Given the description of an element on the screen output the (x, y) to click on. 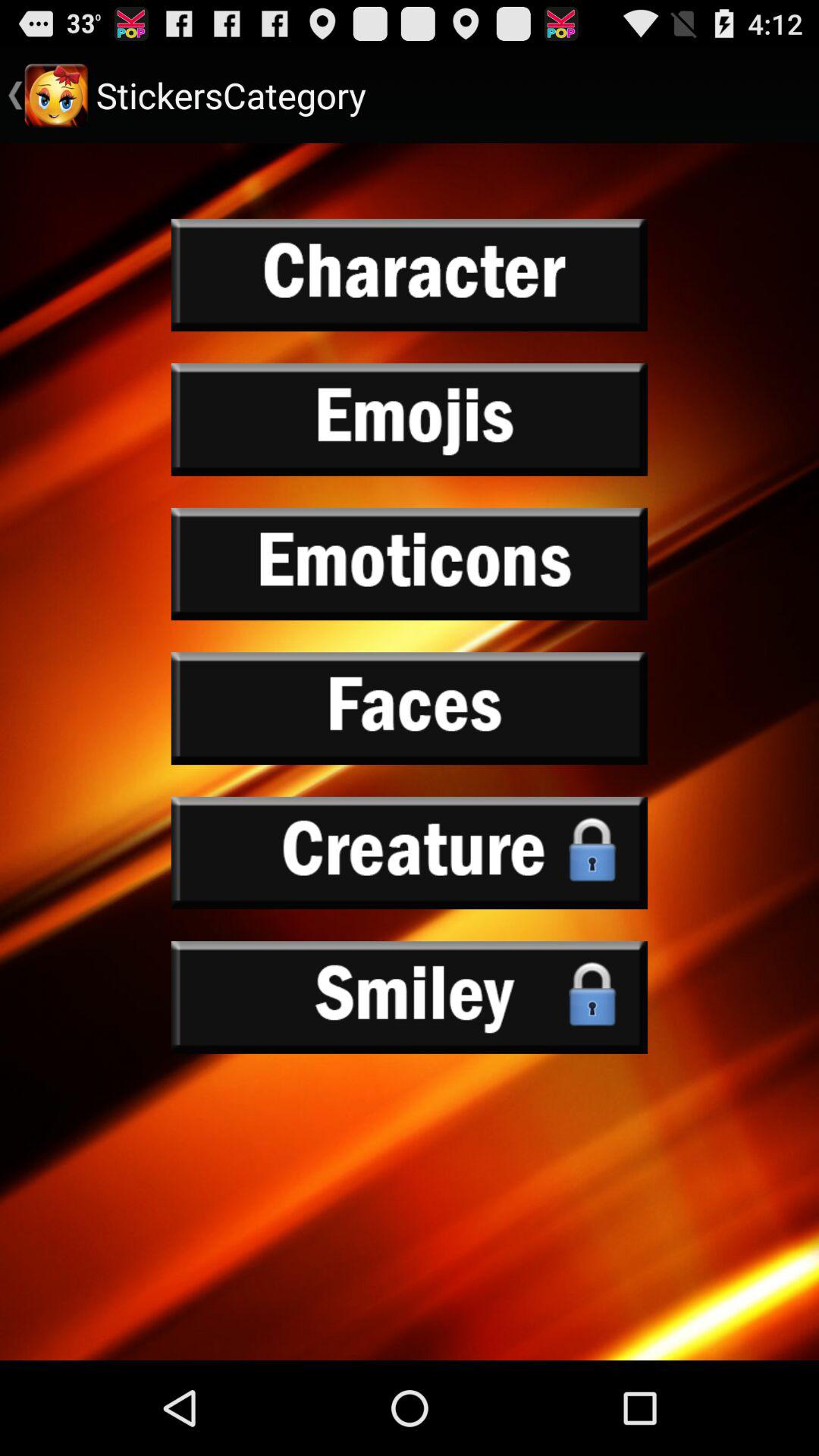
open link (409, 275)
